Given the description of an element on the screen output the (x, y) to click on. 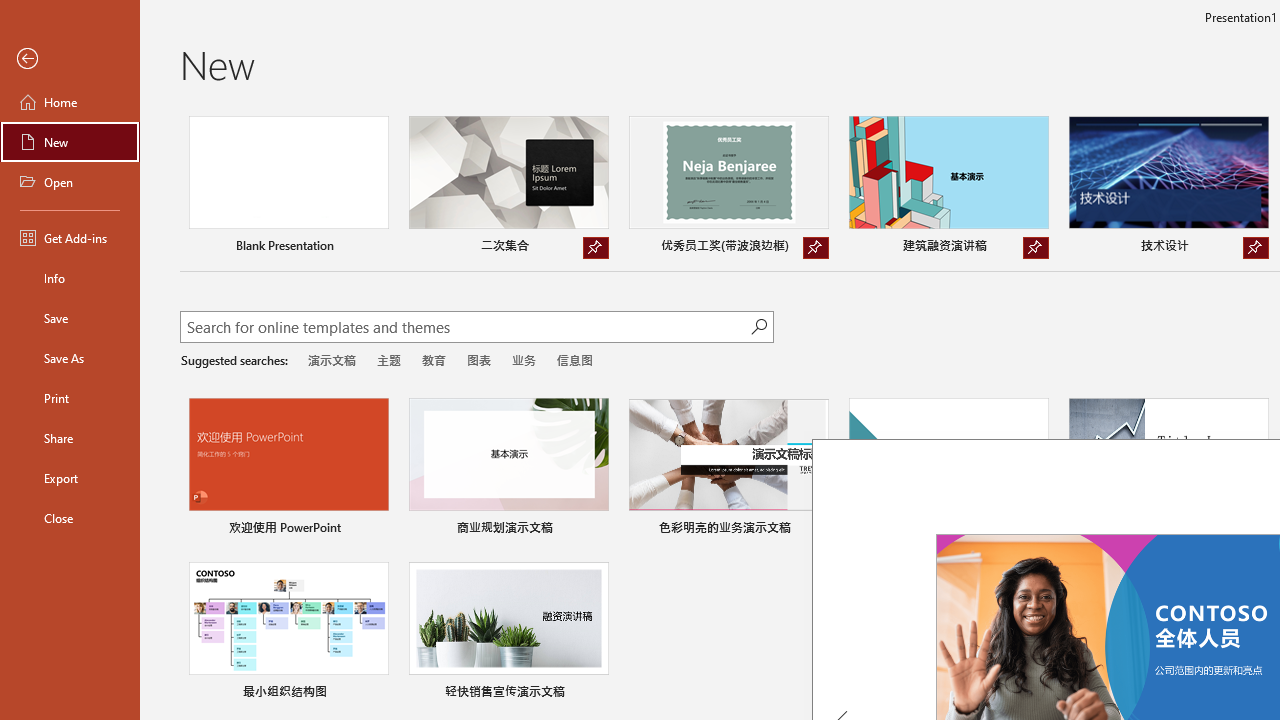
Start searching (758, 326)
Save As (69, 357)
Back (69, 59)
Unpin from list (1255, 247)
Pin to list (595, 693)
Export (69, 477)
